Given the description of an element on the screen output the (x, y) to click on. 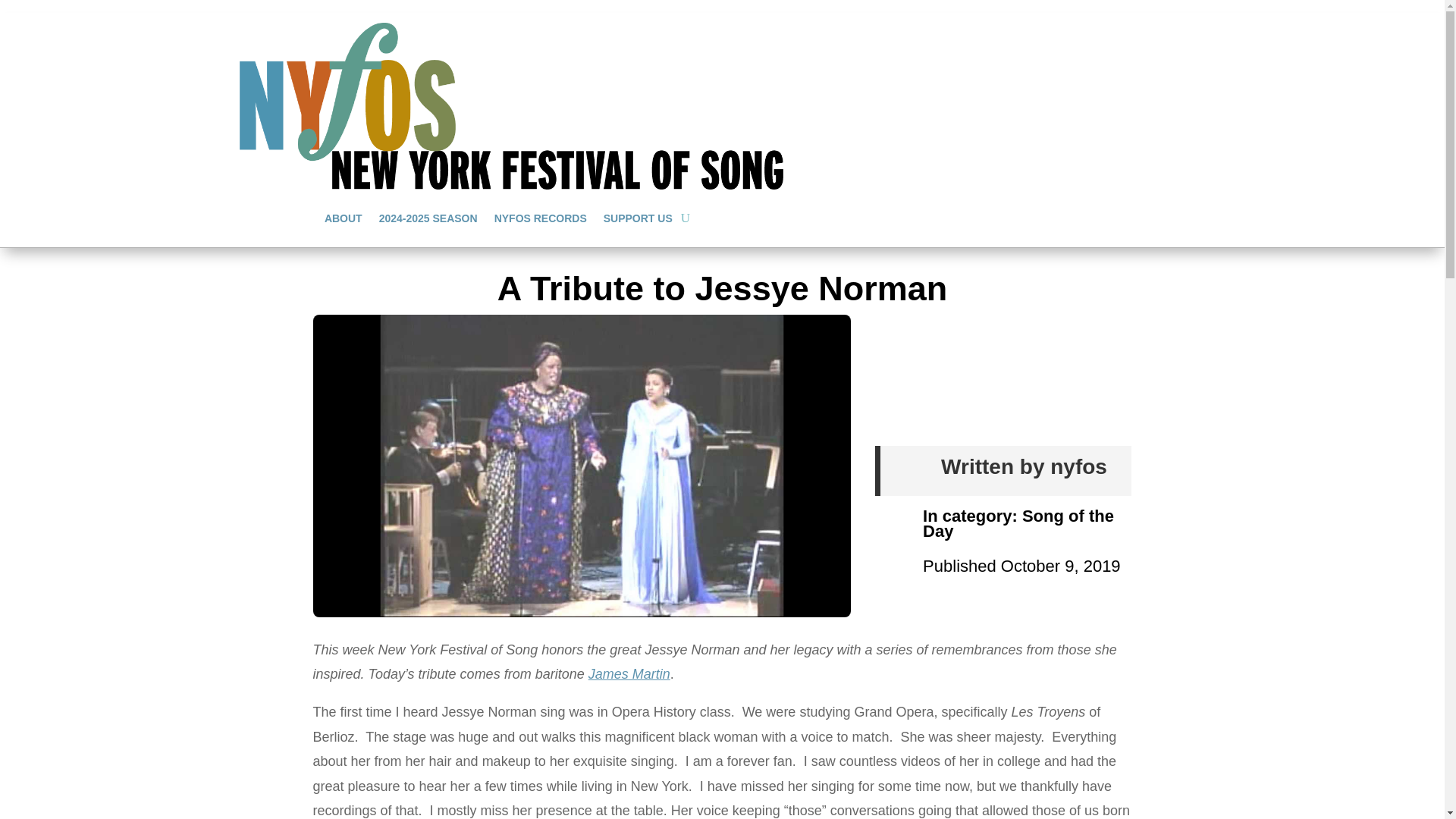
NYFOS RECORDS (540, 218)
2024-2025 SEASON (427, 218)
SUPPORT US (638, 218)
Song of the Day (1018, 523)
James Martin (628, 673)
nyfos (1077, 466)
